Given the description of an element on the screen output the (x, y) to click on. 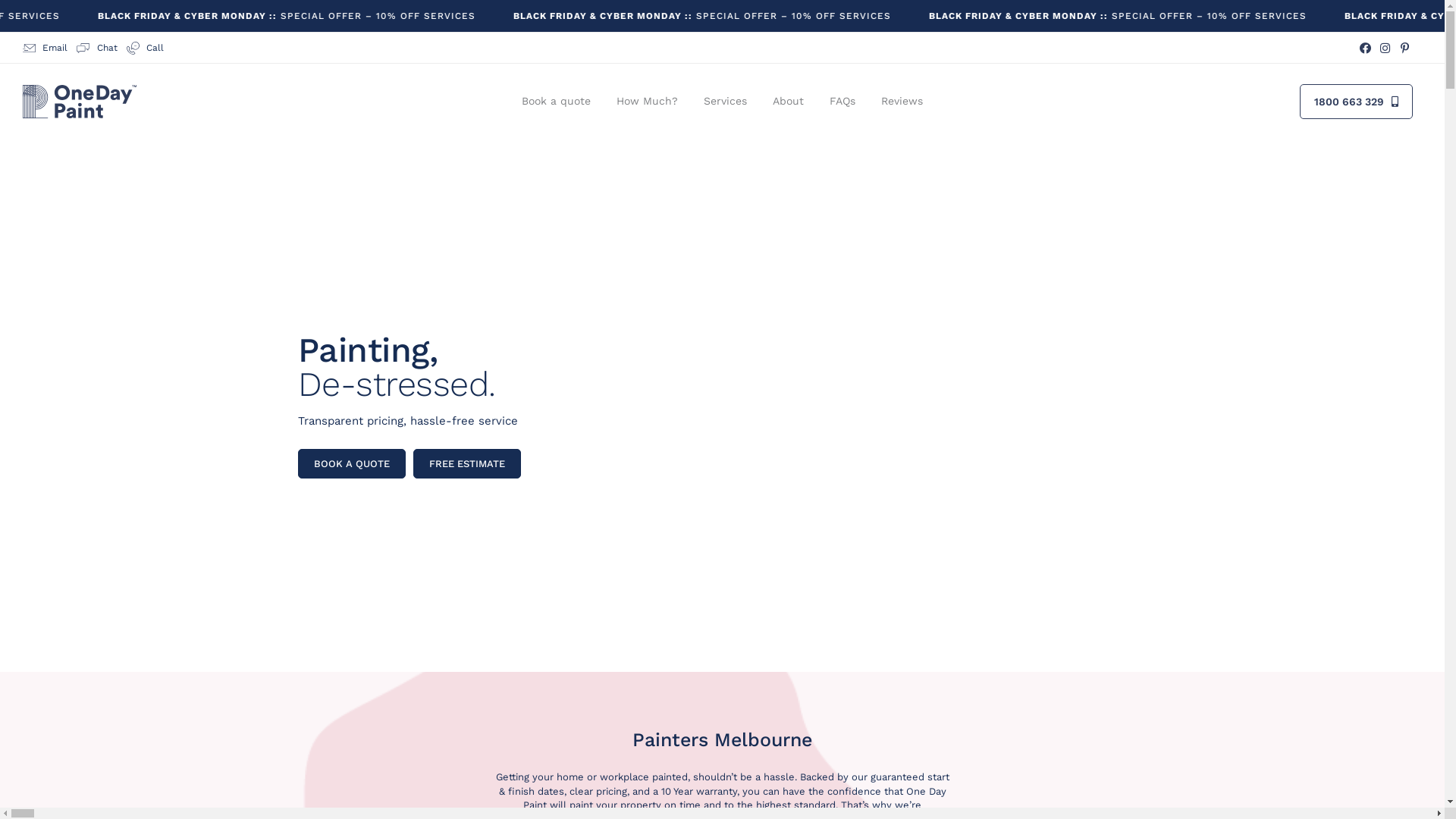
Services Element type: text (724, 101)
How Much? Element type: text (646, 101)
FAQs Element type: text (842, 101)
Book a quote Element type: text (555, 101)
Chat Element type: text (96, 47)
About Element type: text (787, 101)
FREE ESTIMATE Element type: text (466, 463)
Email Element type: text (44, 47)
1800 663 329 Element type: text (1355, 101)
ODP logo Element type: hover (79, 101)
Reviews Element type: text (901, 101)
BOOK A QUOTE Element type: text (350, 463)
Call Element type: text (144, 47)
